Given the description of an element on the screen output the (x, y) to click on. 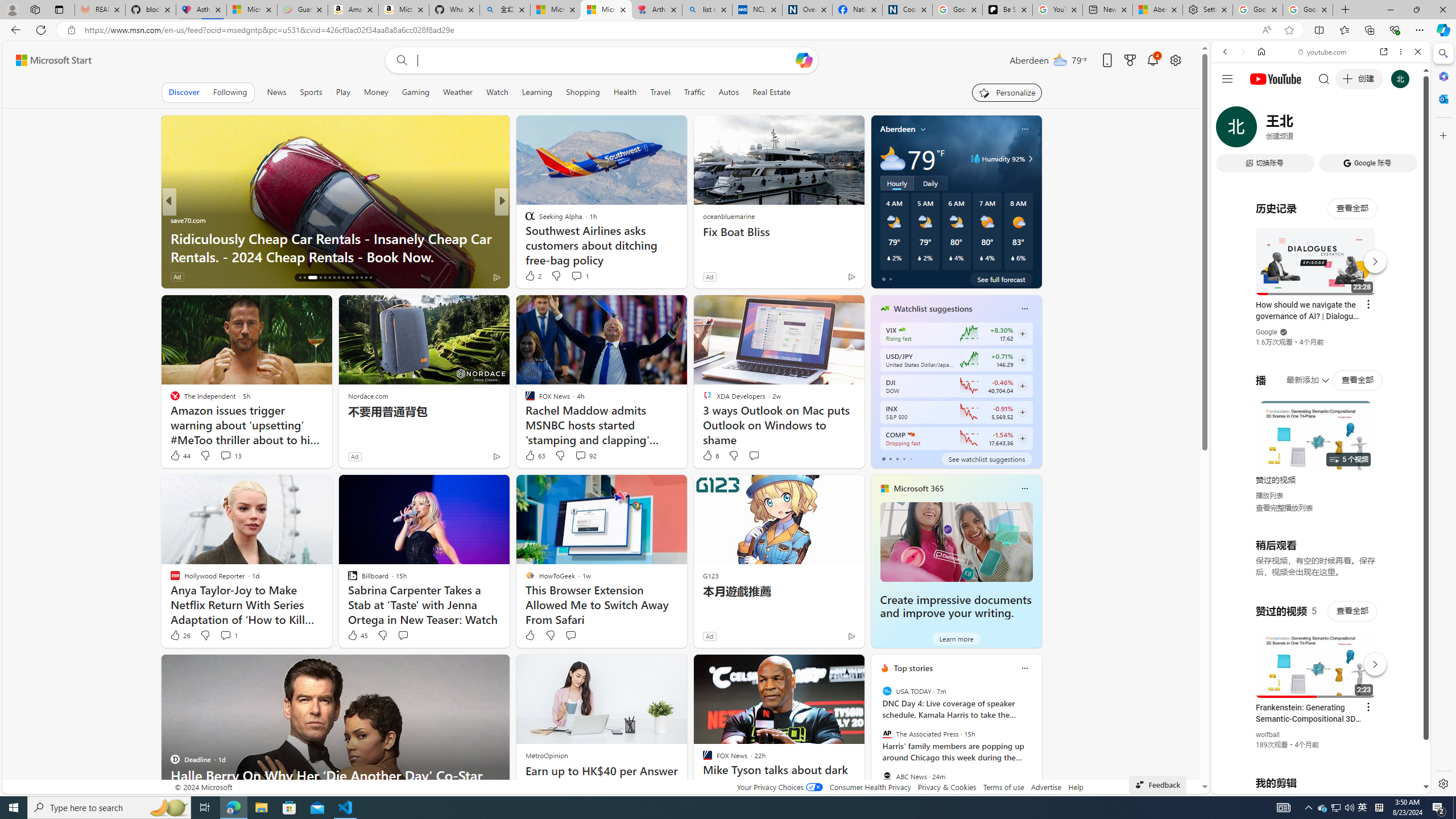
Learn more (956, 638)
NCL Adult Asthma Inhaler Choice Guideline (757, 9)
Travel (660, 92)
Class: b_serphb (1404, 130)
AutomationID: tab-27 (356, 277)
#you (1320, 253)
The Washington Post (524, 219)
WEB   (1230, 130)
Daily (929, 183)
